Given the description of an element on the screen output the (x, y) to click on. 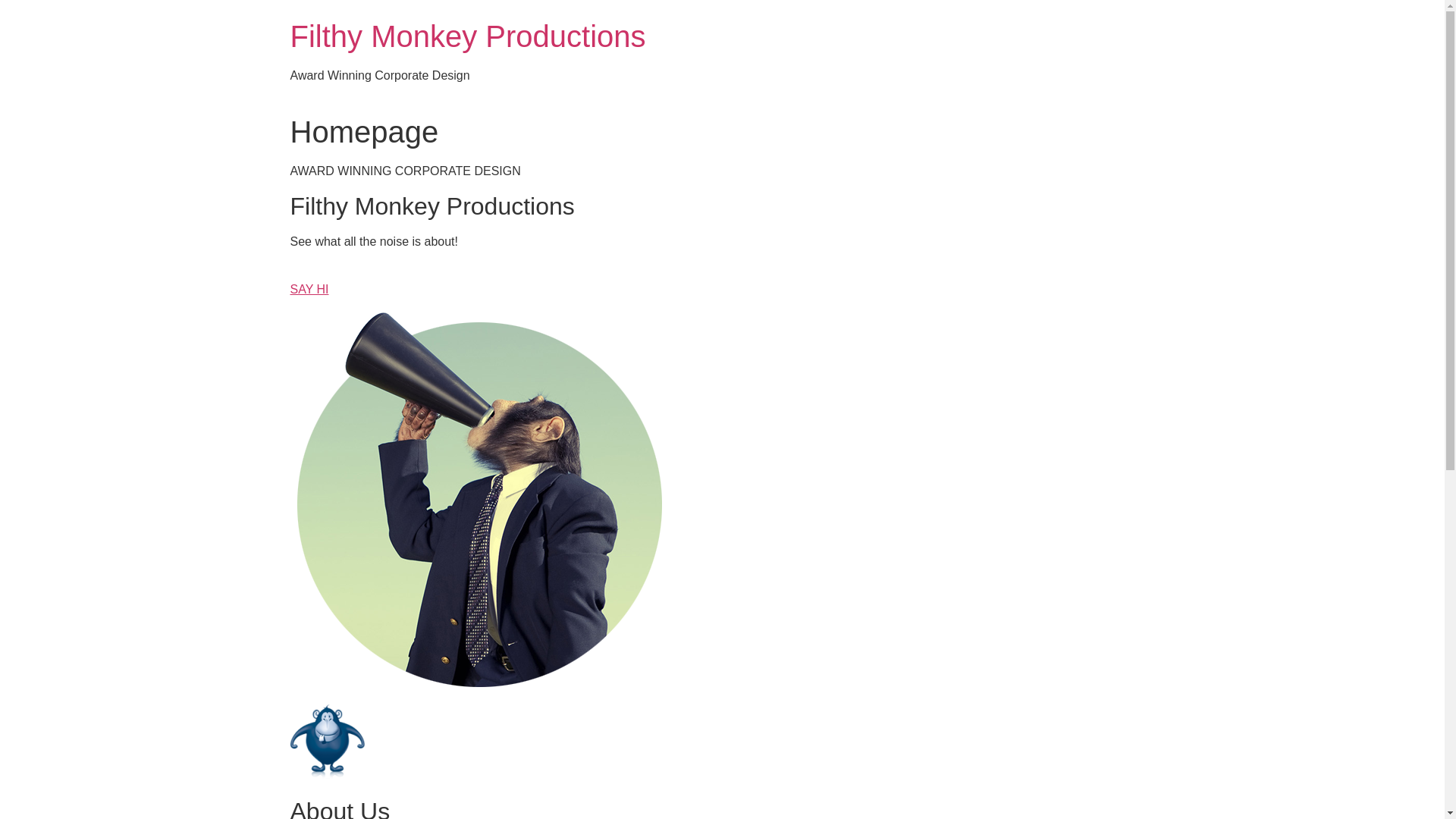
little_fmp_monkey Element type: hover (326, 742)
Filthy Monkey Productions Element type: text (467, 36)
SAY HI Element type: text (308, 297)
